Given the description of an element on the screen output the (x, y) to click on. 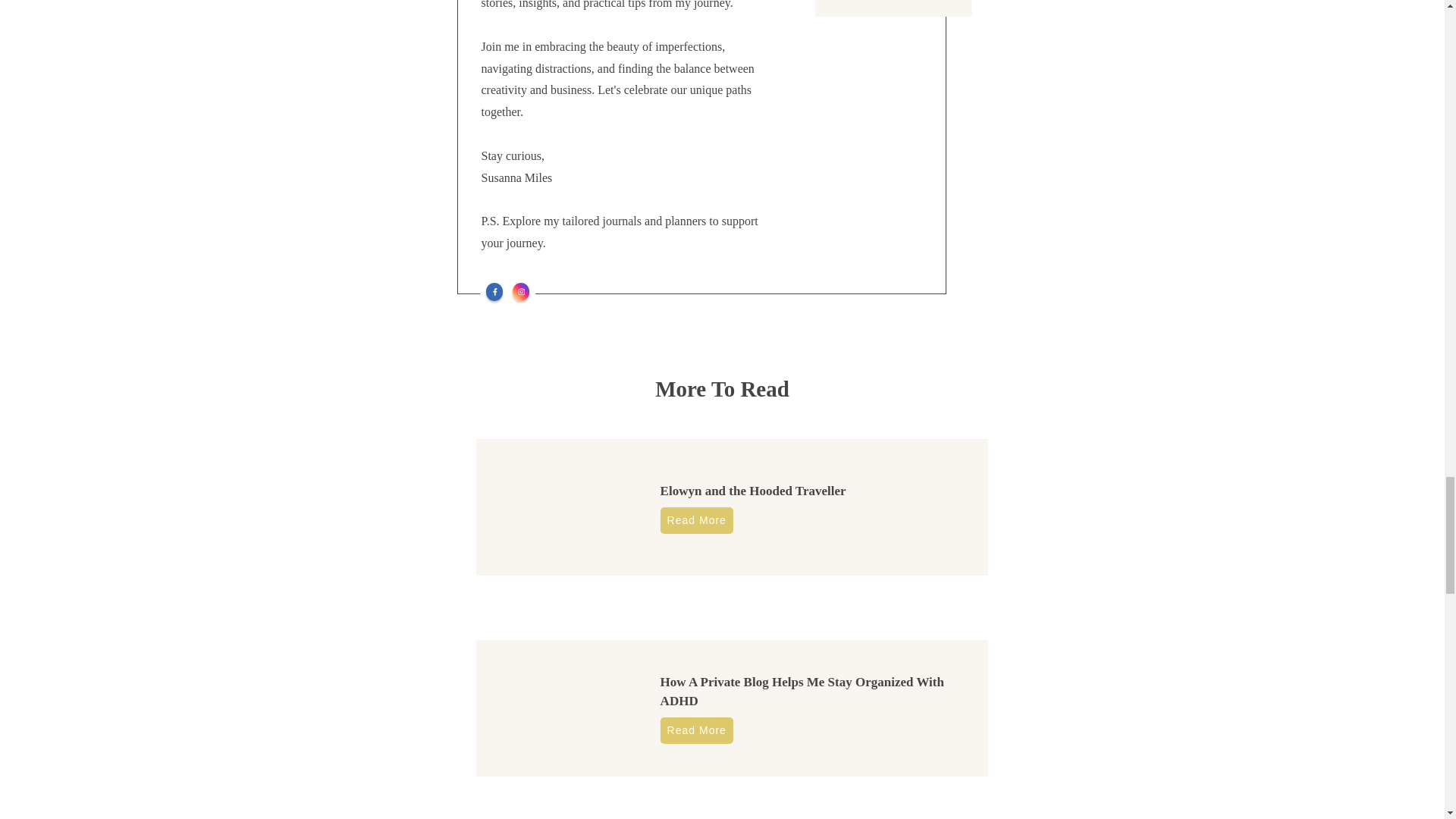
Elowyn and the Hooded Traveller (753, 490)
Elowyn and the Hooded Traveller (753, 490)
How A Private Blog Helps Me Stay Organized With ADHD (802, 691)
Read More (697, 730)
How A Private Blog Helps Me Stay Organized With ADHD (802, 691)
Read More (697, 519)
